Given the description of an element on the screen output the (x, y) to click on. 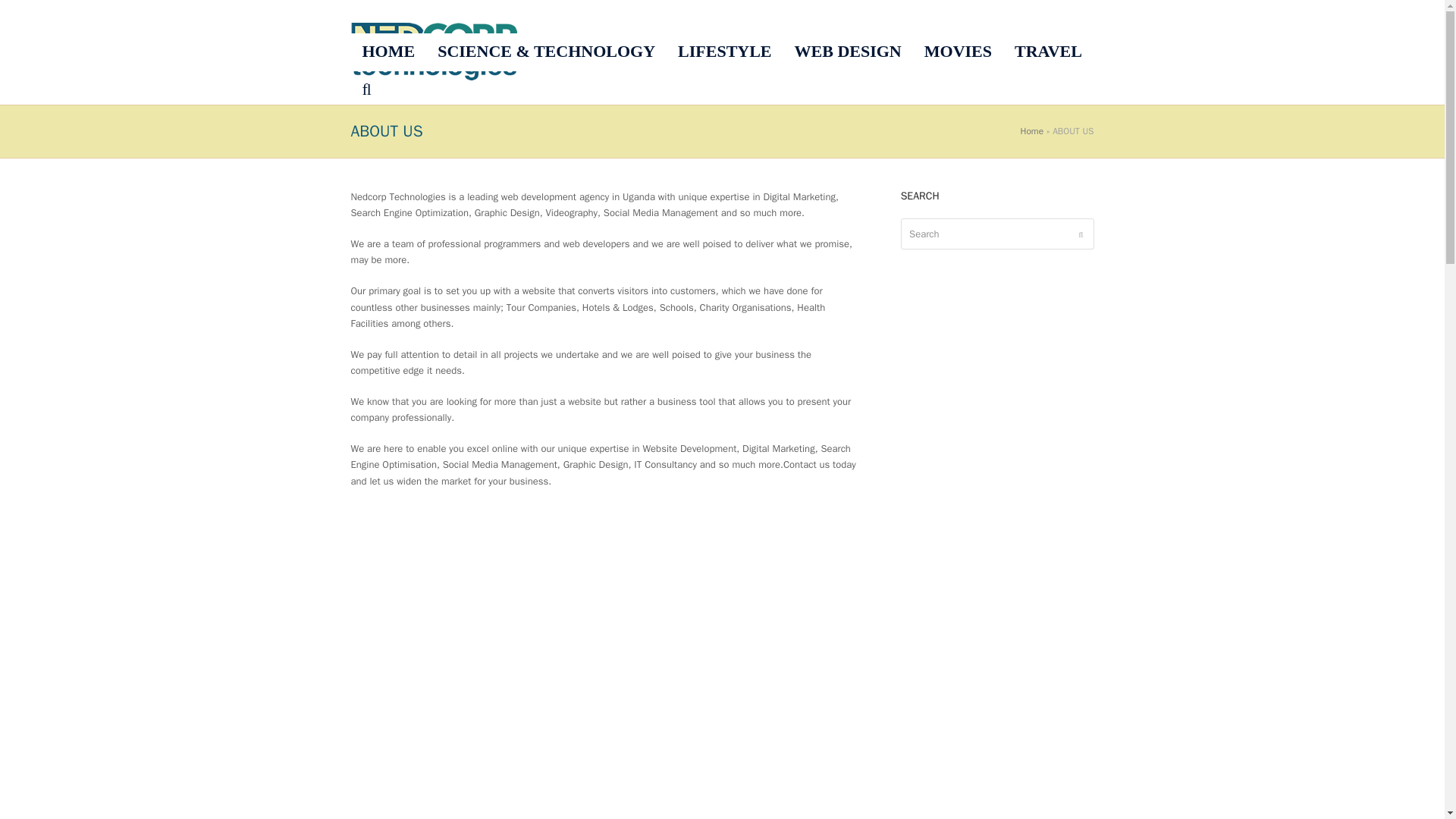
TRAVEL (1048, 52)
MOVIES (957, 52)
Home (1031, 131)
HOME (388, 52)
WEB DESIGN (847, 52)
LIFESTYLE (724, 52)
Advertisement (1009, 796)
